Given the description of an element on the screen output the (x, y) to click on. 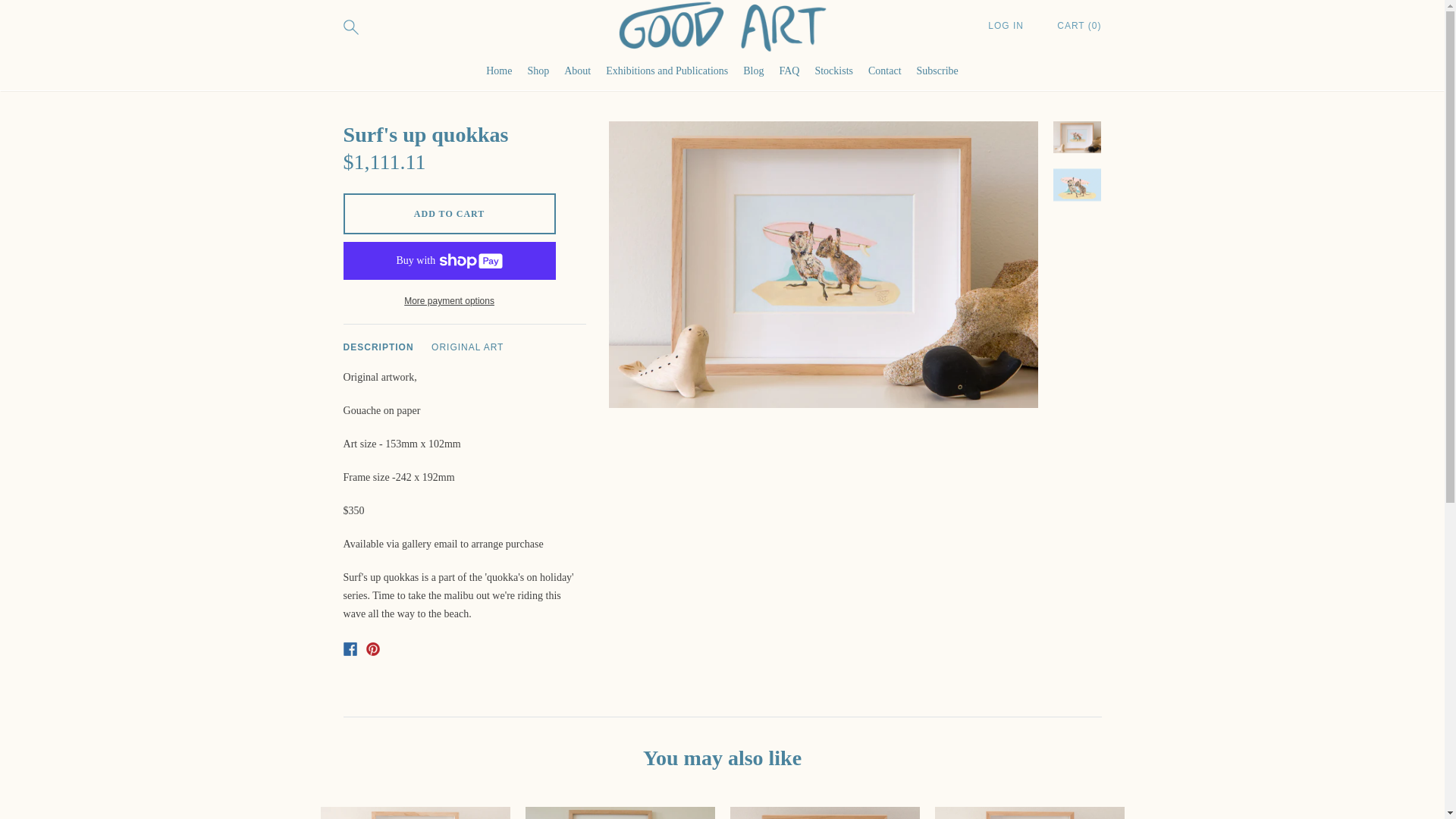
Blog (752, 70)
About (577, 70)
FAQ (788, 70)
Exhibitions and Publications (666, 70)
Shop (537, 70)
LOG IN (1007, 25)
Home (499, 70)
